Given the description of an element on the screen output the (x, y) to click on. 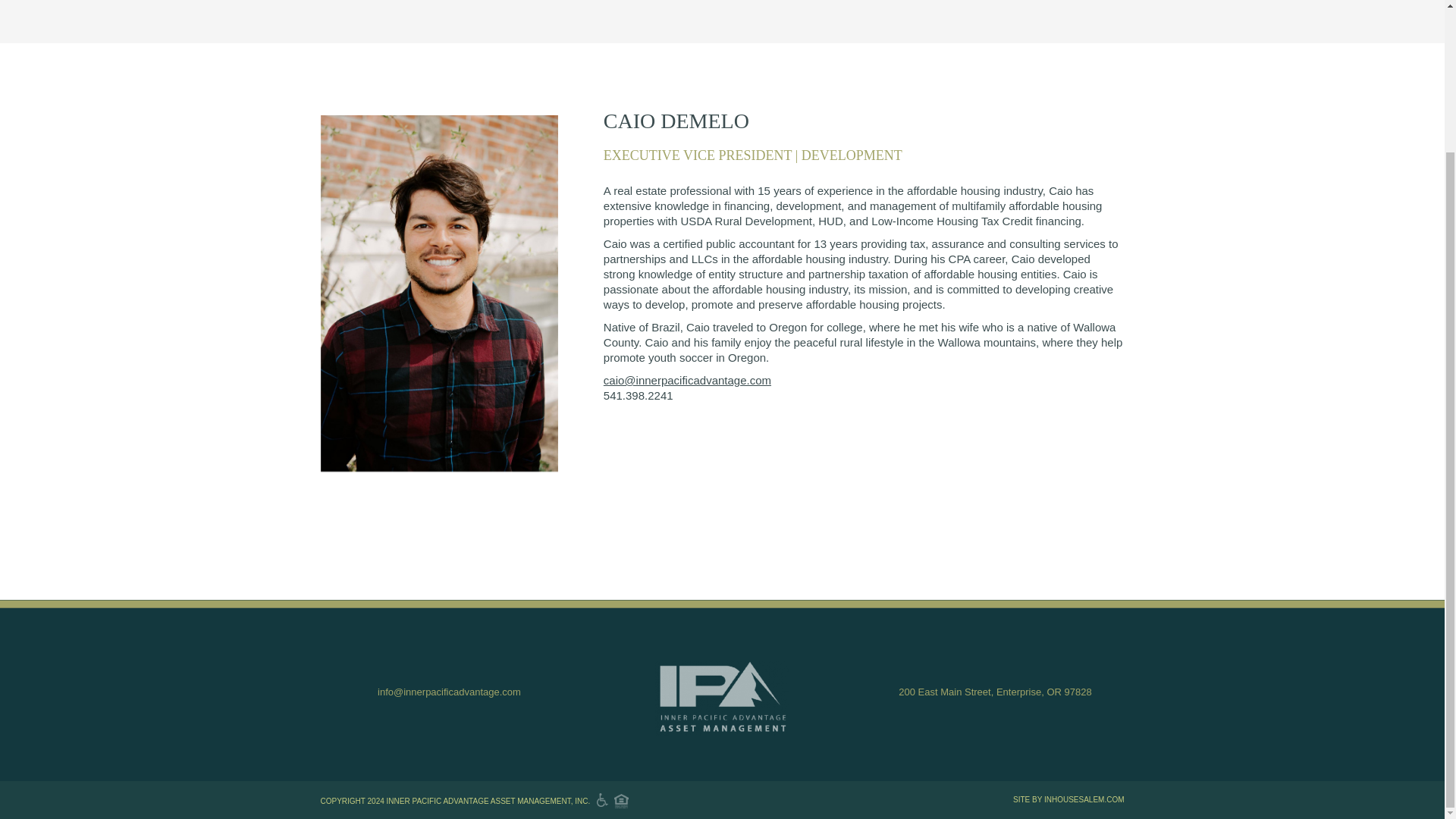
SITE BY INHOUSESALEM.COM (1068, 799)
200 East Main Street, Enterprise, OR 97828 (994, 691)
